Given the description of an element on the screen output the (x, y) to click on. 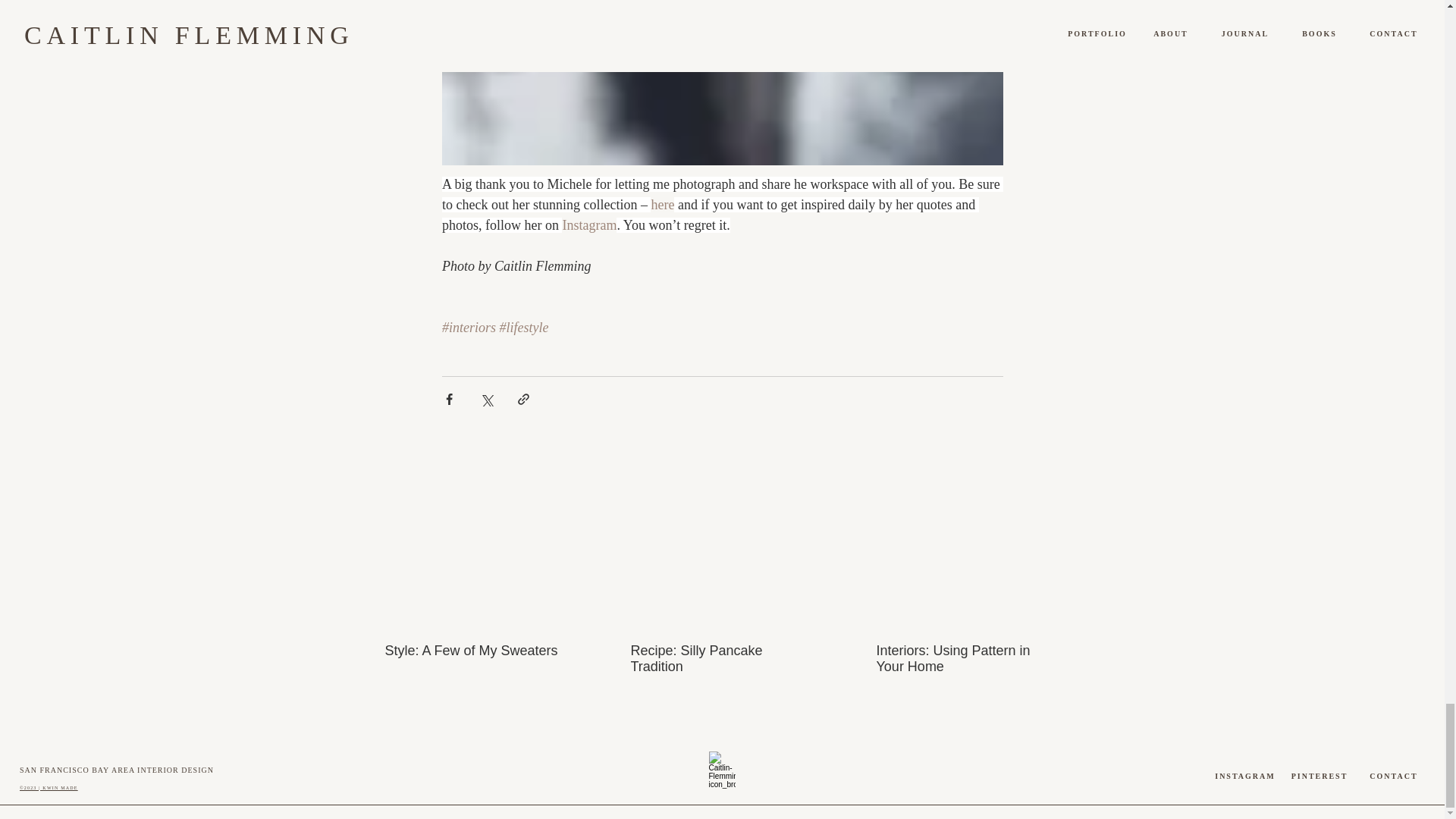
Instagram (588, 224)
CONTACT (1393, 776)
INSTAGRAM (1245, 776)
Style: A Few of My Sweaters (476, 650)
Interiors: Using Pattern in Your Home (967, 658)
Recipe: Silly Pancake Tradition (721, 658)
here (662, 204)
PINTEREST (1319, 776)
